Given the description of an element on the screen output the (x, y) to click on. 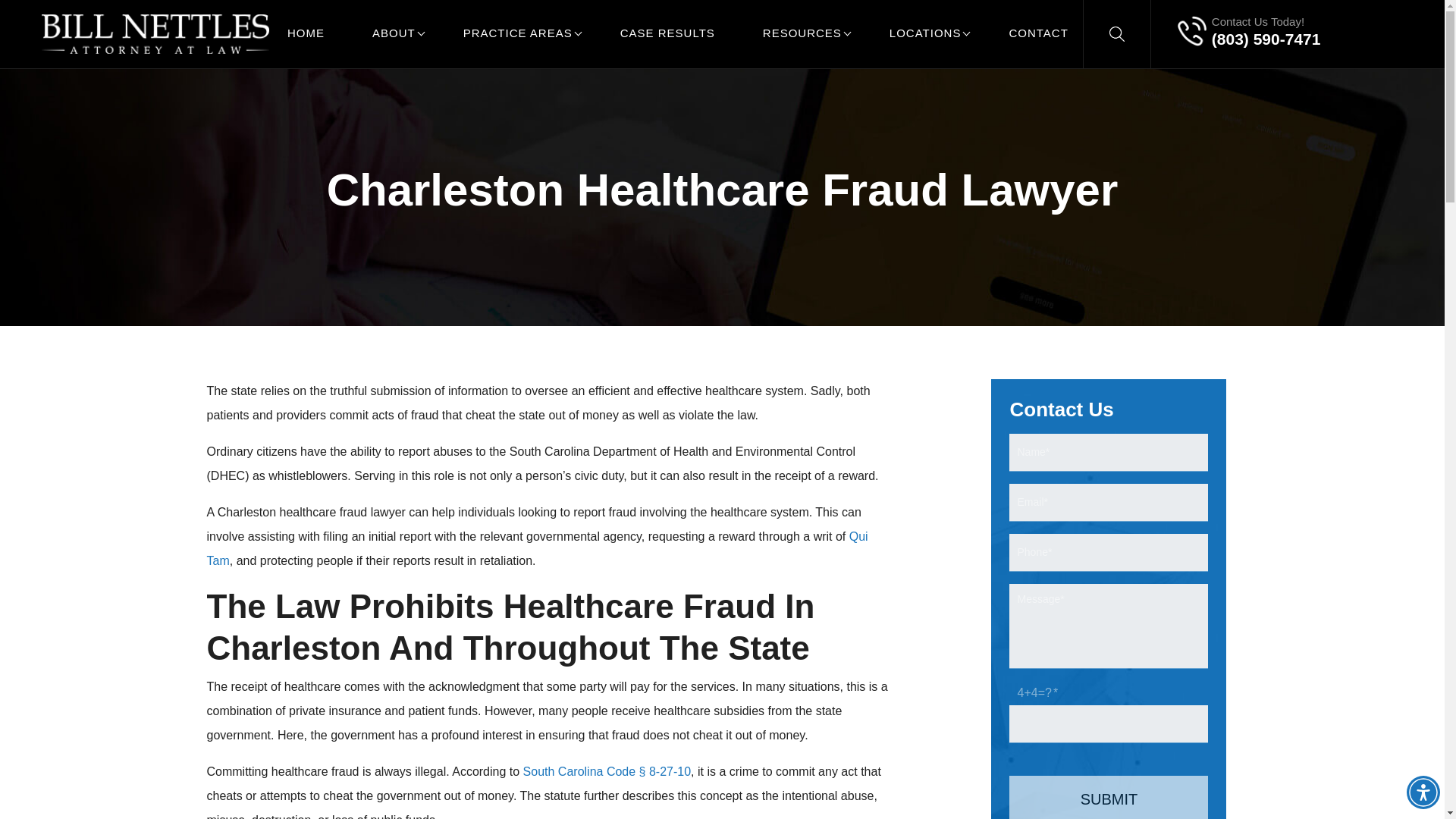
HOME (305, 32)
Submit (1108, 796)
Accessibility Menu (1422, 792)
PRACTICE AREAS (517, 32)
ABOUT (394, 32)
